Given the description of an element on the screen output the (x, y) to click on. 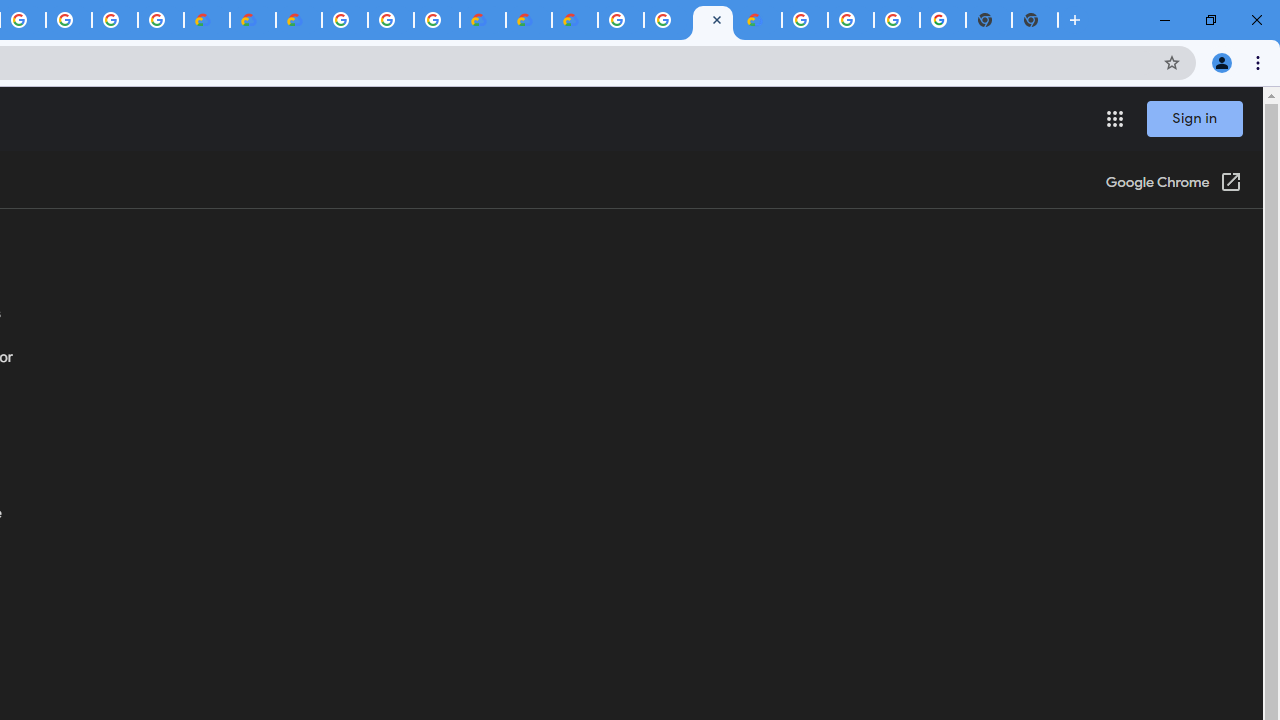
New Tab (1035, 20)
